Given the description of an element on the screen output the (x, y) to click on. 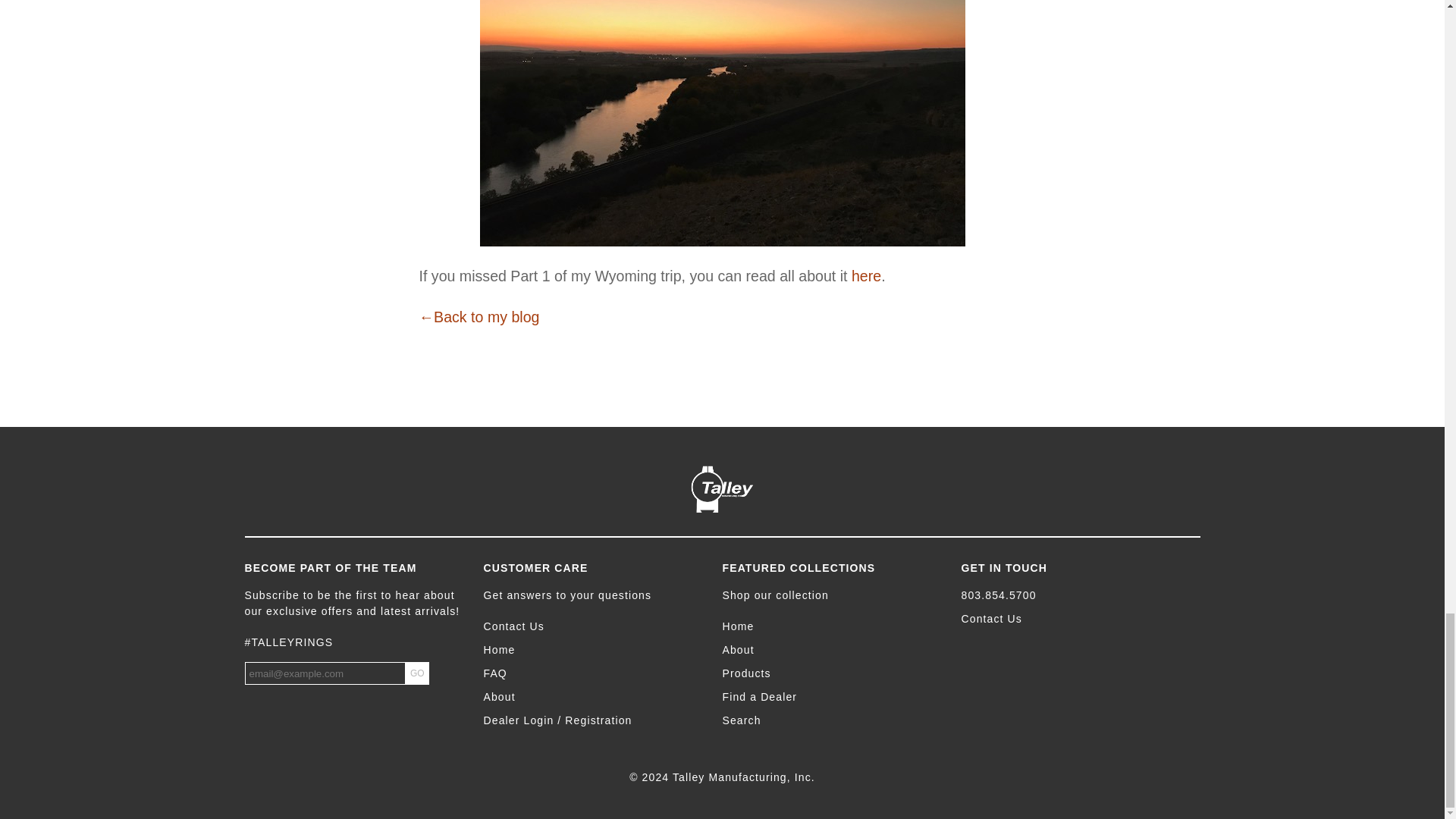
Back to my blog (478, 316)
803.854.5700 (1072, 595)
FAQ (595, 673)
Search (833, 720)
Products (833, 673)
Contact Us (595, 626)
About (595, 697)
here (865, 275)
Find a Dealer (833, 697)
GO (417, 672)
About (833, 650)
Home (833, 626)
Talley Manufacturing (722, 489)
Home (595, 650)
